Given the description of an element on the screen output the (x, y) to click on. 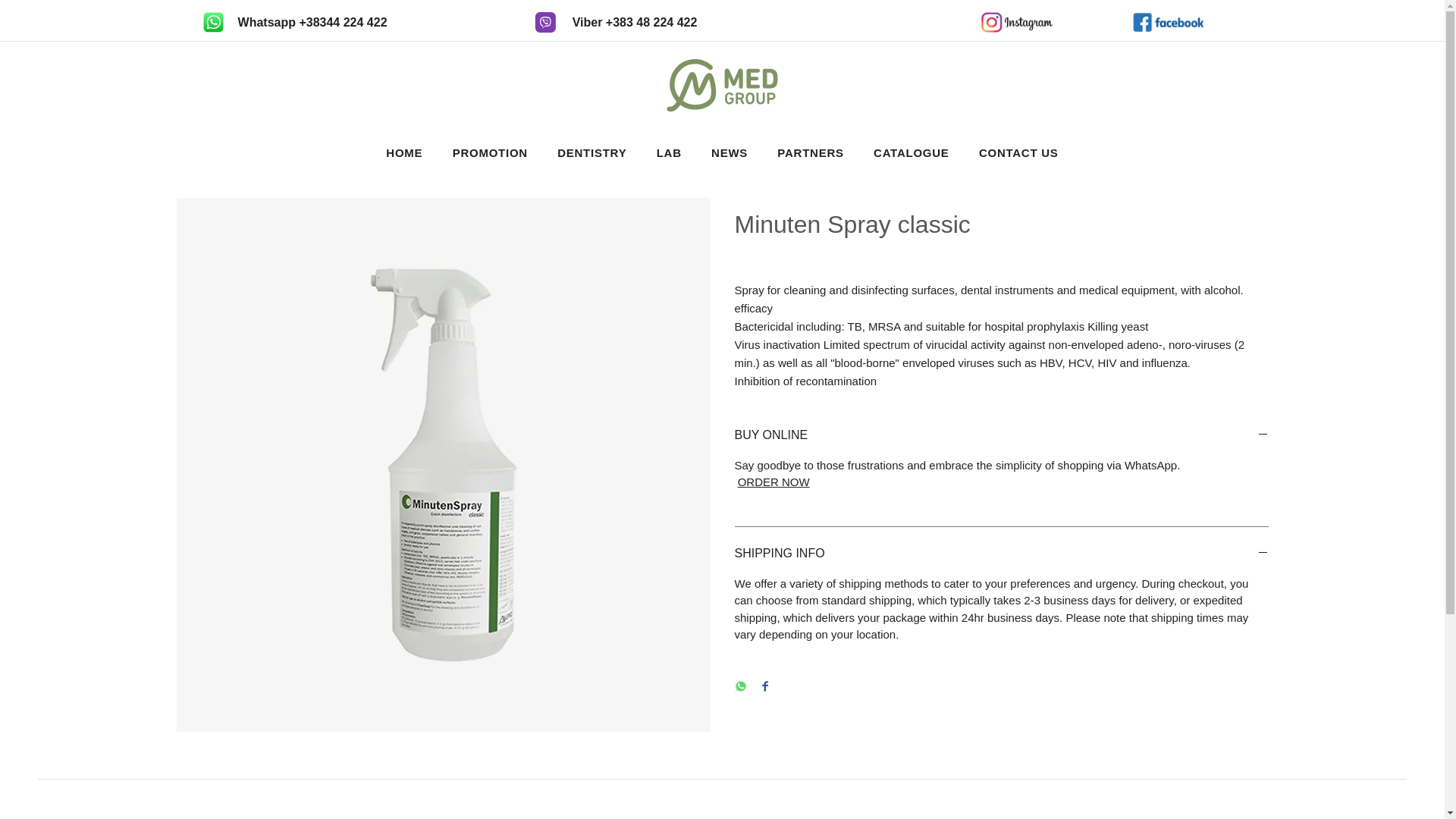
CONTACT US (1018, 152)
BUY ONLINE (1000, 434)
LAB (668, 152)
ORDER NOW (773, 481)
SHIPPING INFO (1000, 553)
CATALOGUE (911, 152)
PROMOTION (490, 152)
HOME (404, 152)
NEWS (728, 152)
PARTNERS (810, 152)
DENTISTRY (592, 152)
